Given the description of an element on the screen output the (x, y) to click on. 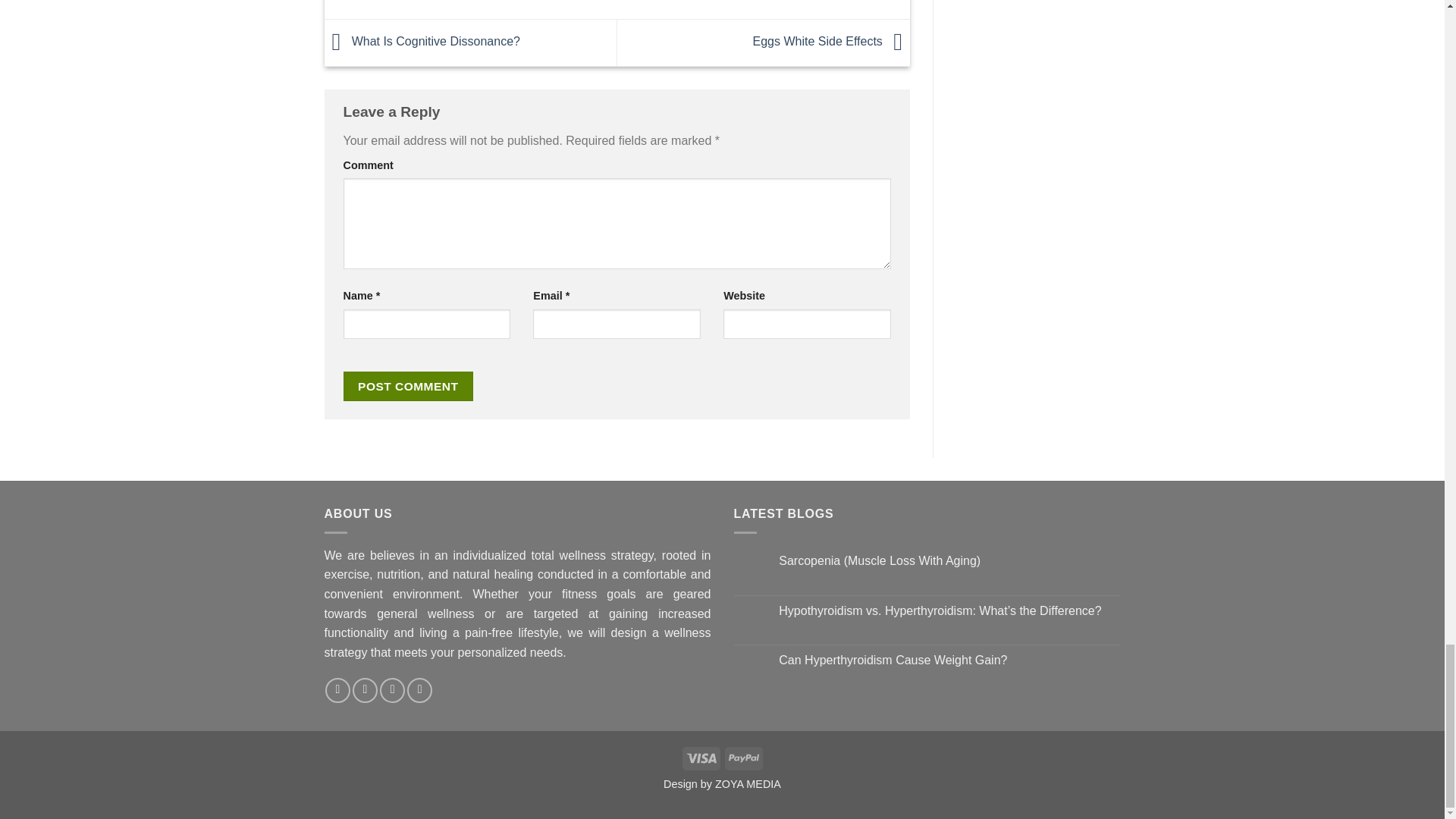
Post Comment (407, 386)
Follow on Instagram (337, 690)
Send us an email (364, 690)
